Given the description of an element on the screen output the (x, y) to click on. 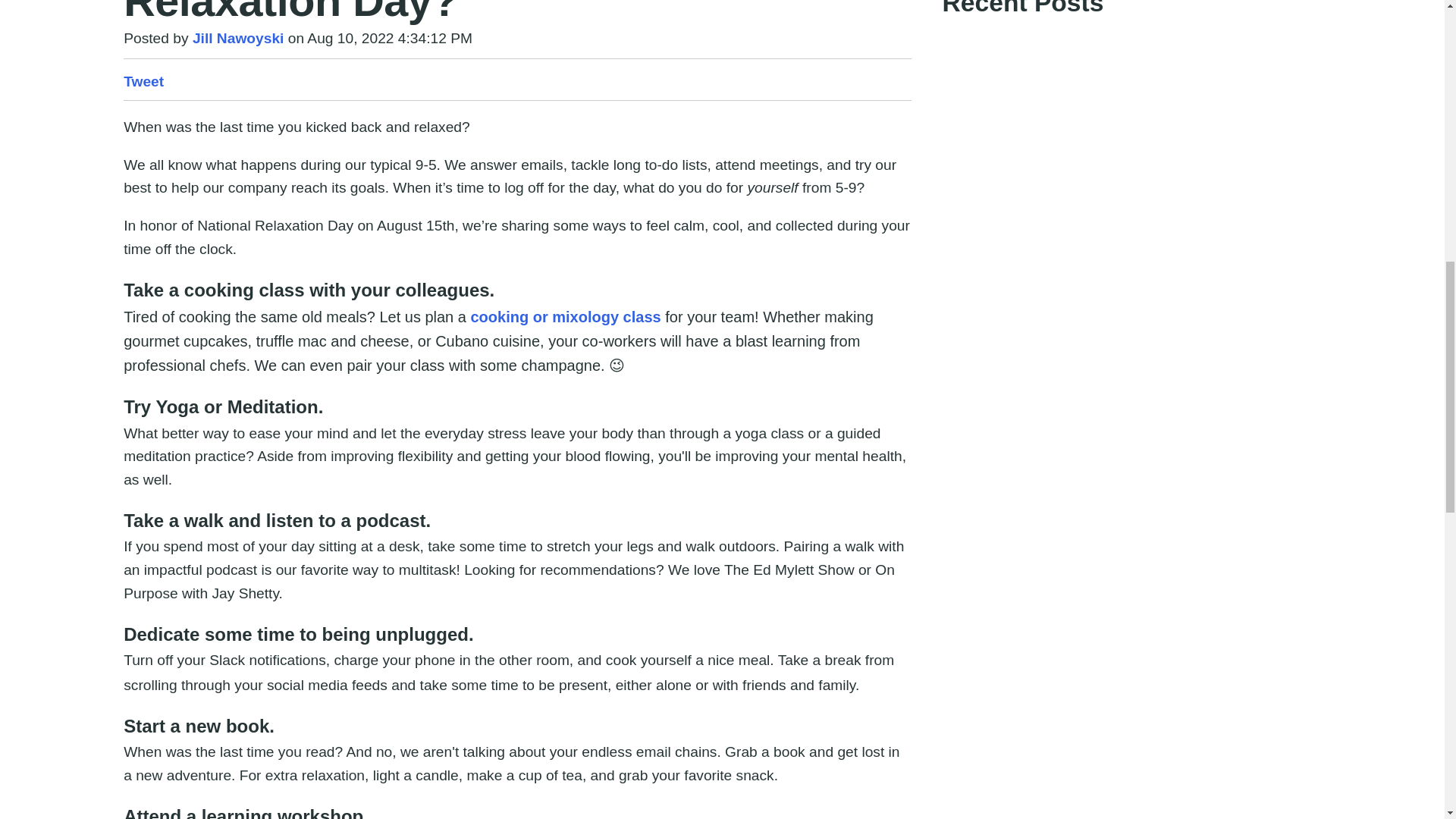
cooking or mixology class (567, 316)
Jill Nawoyski (237, 37)
Tweet (143, 81)
